Given the description of an element on the screen output the (x, y) to click on. 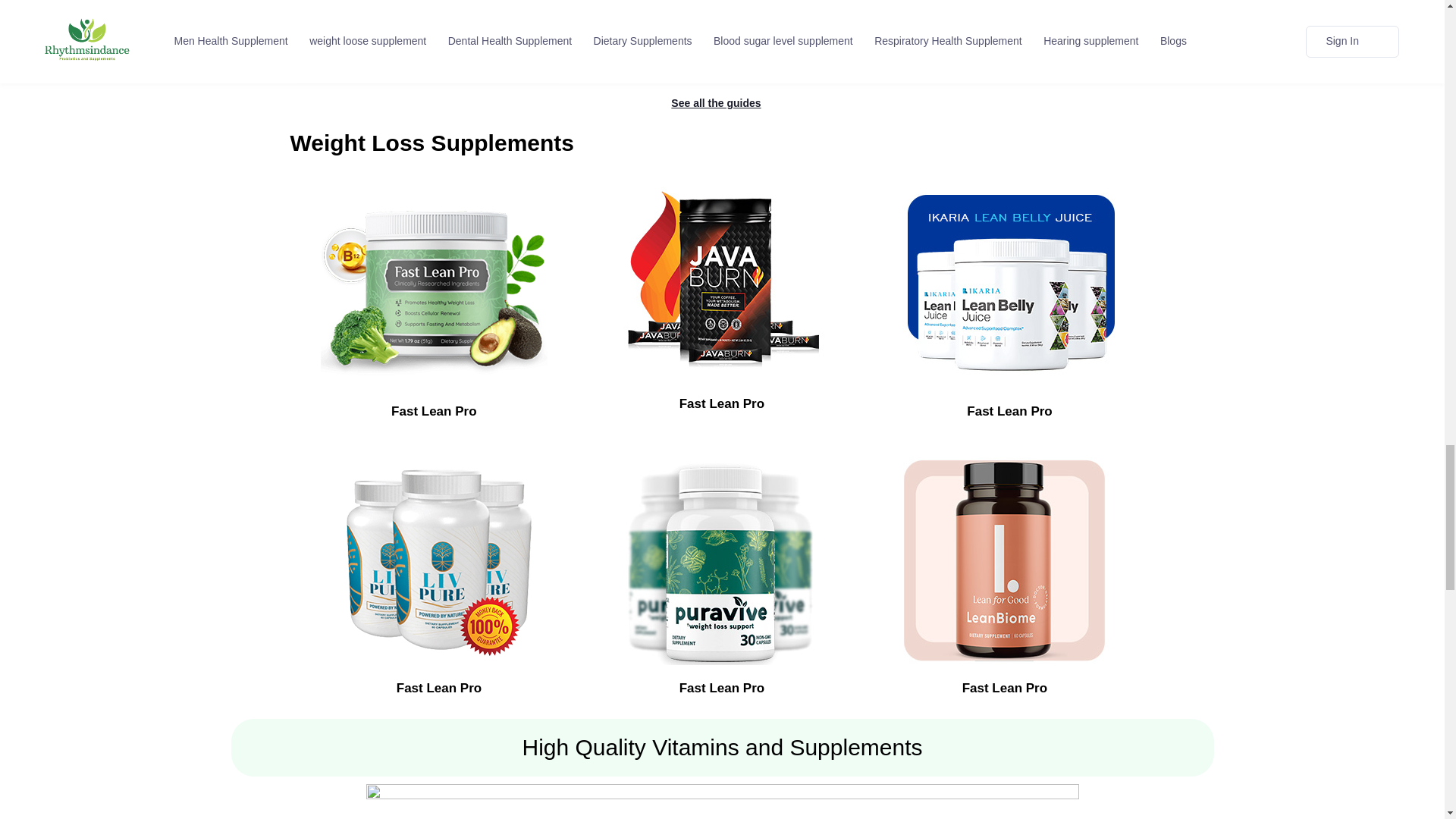
Dental Health Supplement (381, 51)
